Given the description of an element on the screen output the (x, y) to click on. 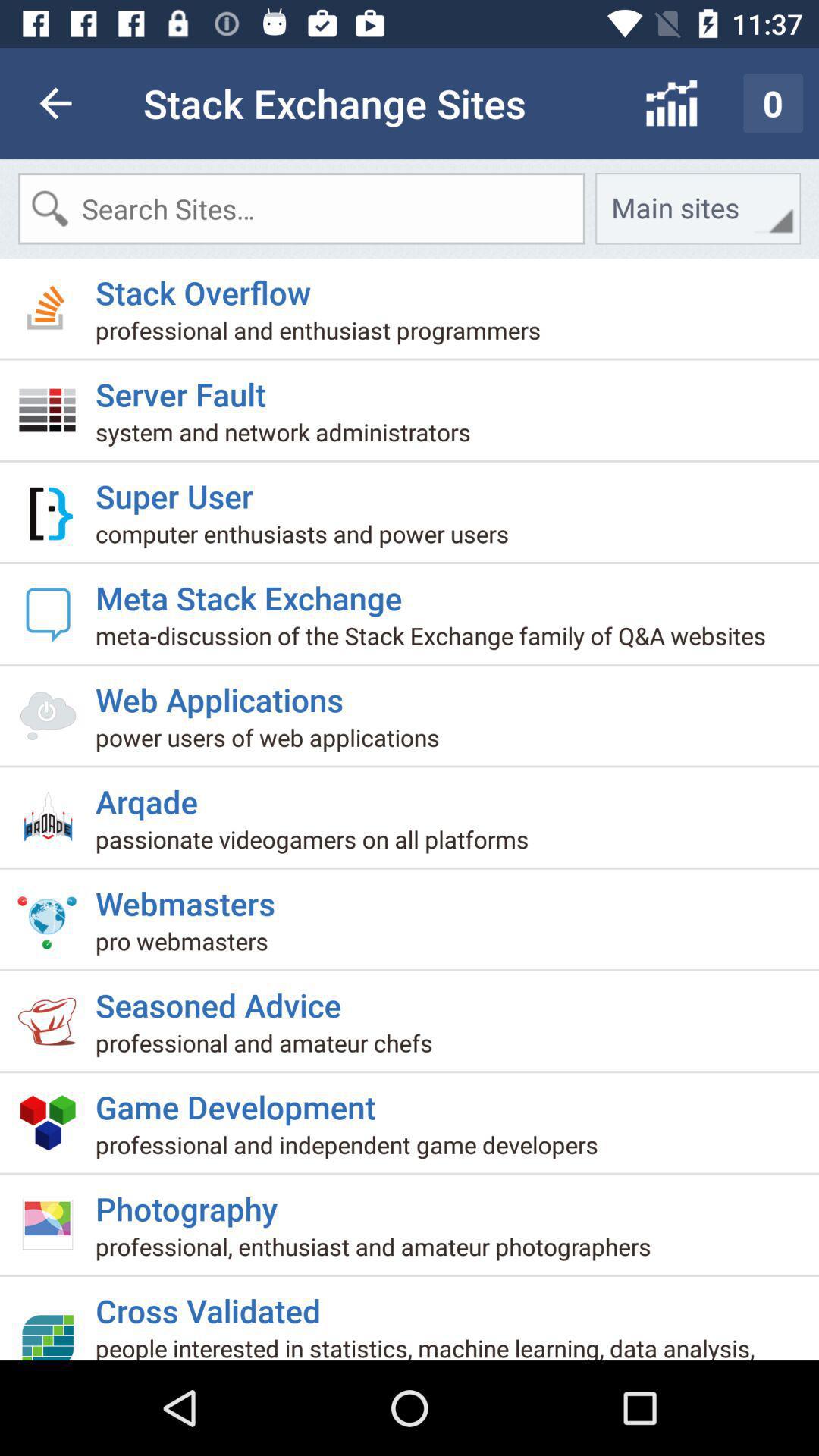
tap icon below the system and network (180, 489)
